Given the description of an element on the screen output the (x, y) to click on. 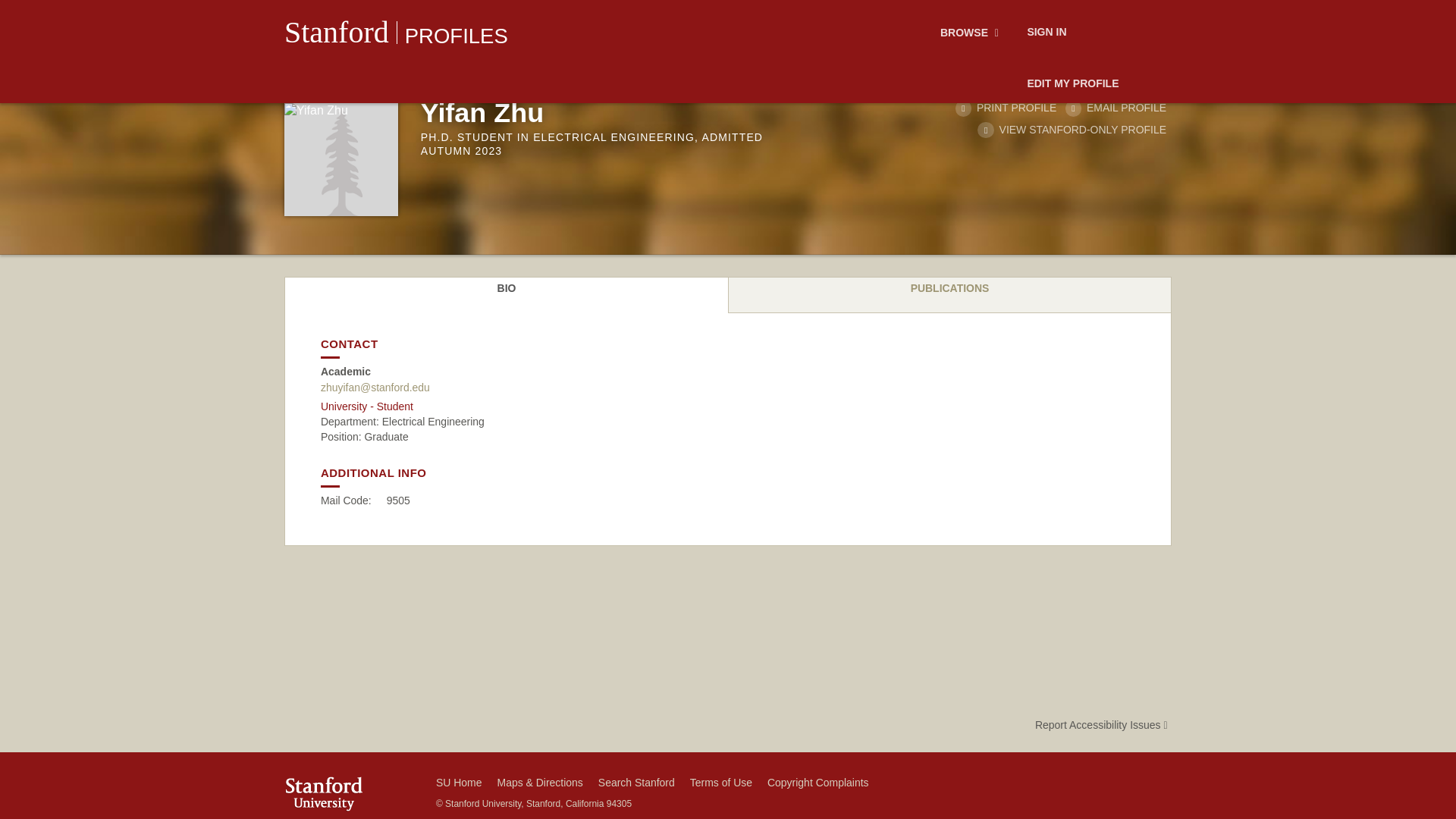
Stanford (335, 32)
BROWSE (971, 32)
VIEW STANFORD-ONLY PROFILE (1071, 129)
SIGN IN (1045, 32)
EMAIL PROFILE (1115, 107)
PRINT PROFILE (1006, 107)
PROFILES (456, 35)
EDIT MY PROFILE (1071, 84)
